Given the description of an element on the screen output the (x, y) to click on. 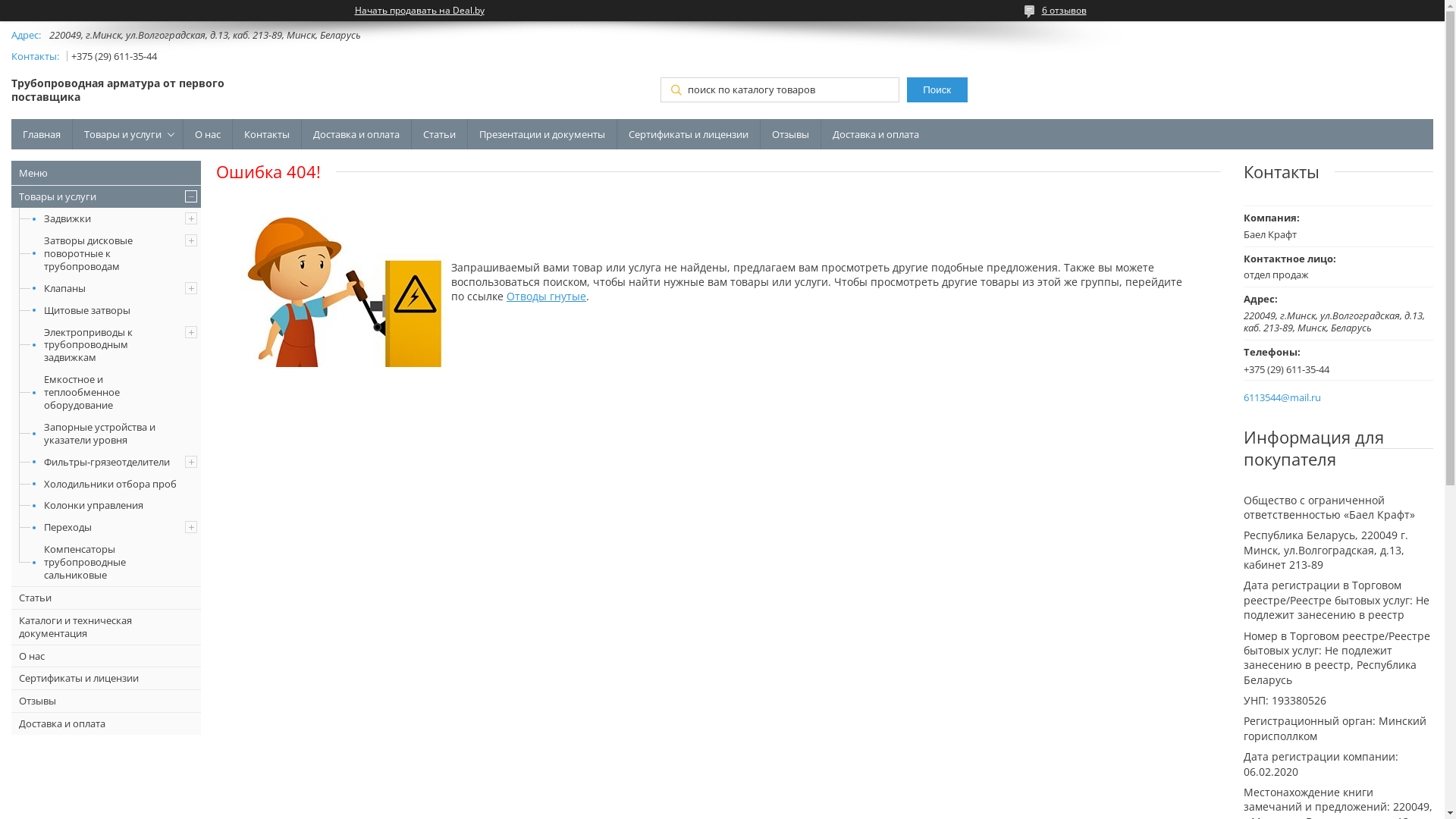
6113544@mail.ru Element type: text (1282, 397)
